Given the description of an element on the screen output the (x, y) to click on. 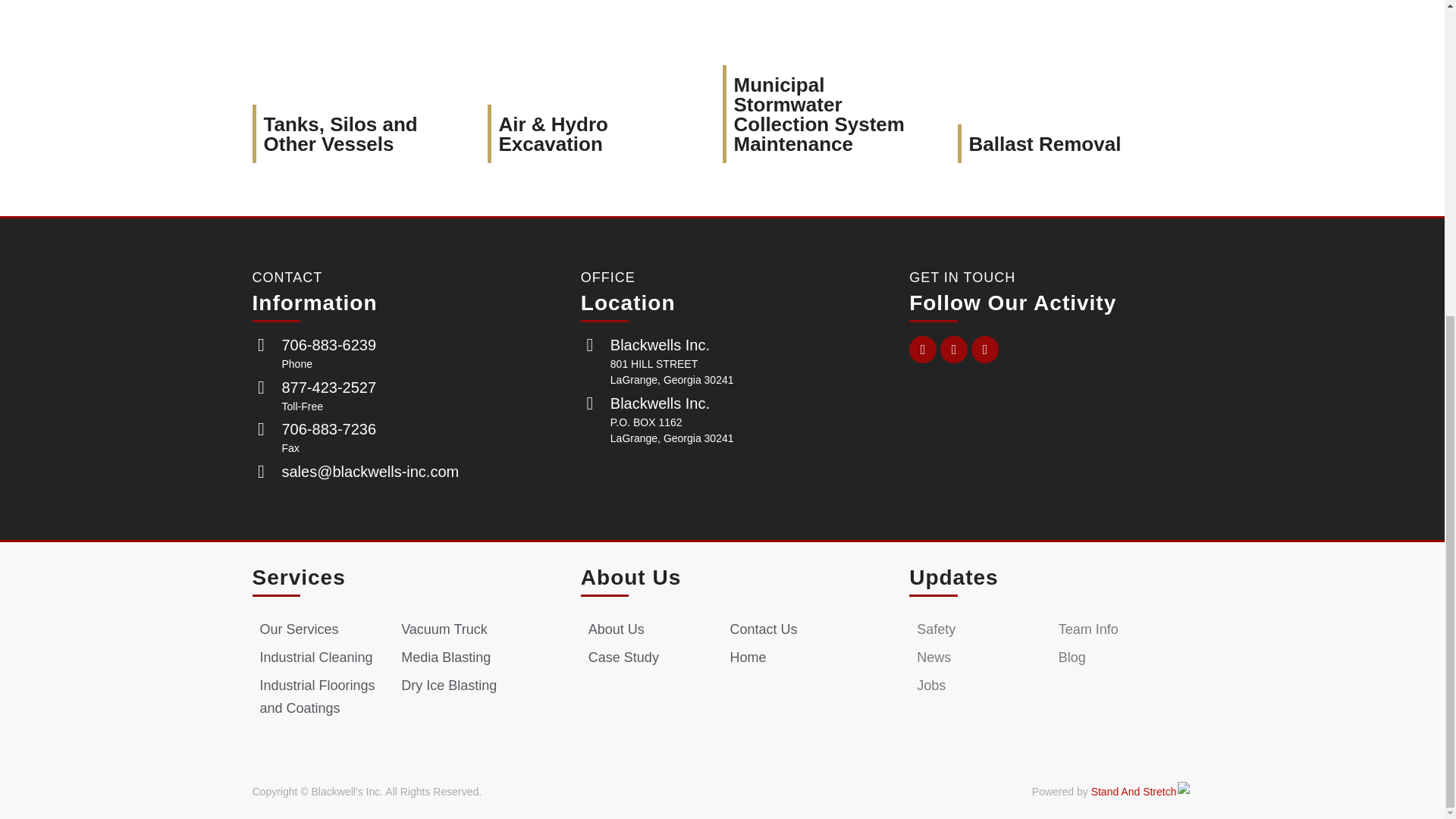
Municipal Stormwater Collection System Maintenance (818, 113)
Tanks, Silos and Other Vessels (340, 133)
Ballast Removal (1045, 142)
